Given the description of an element on the screen output the (x, y) to click on. 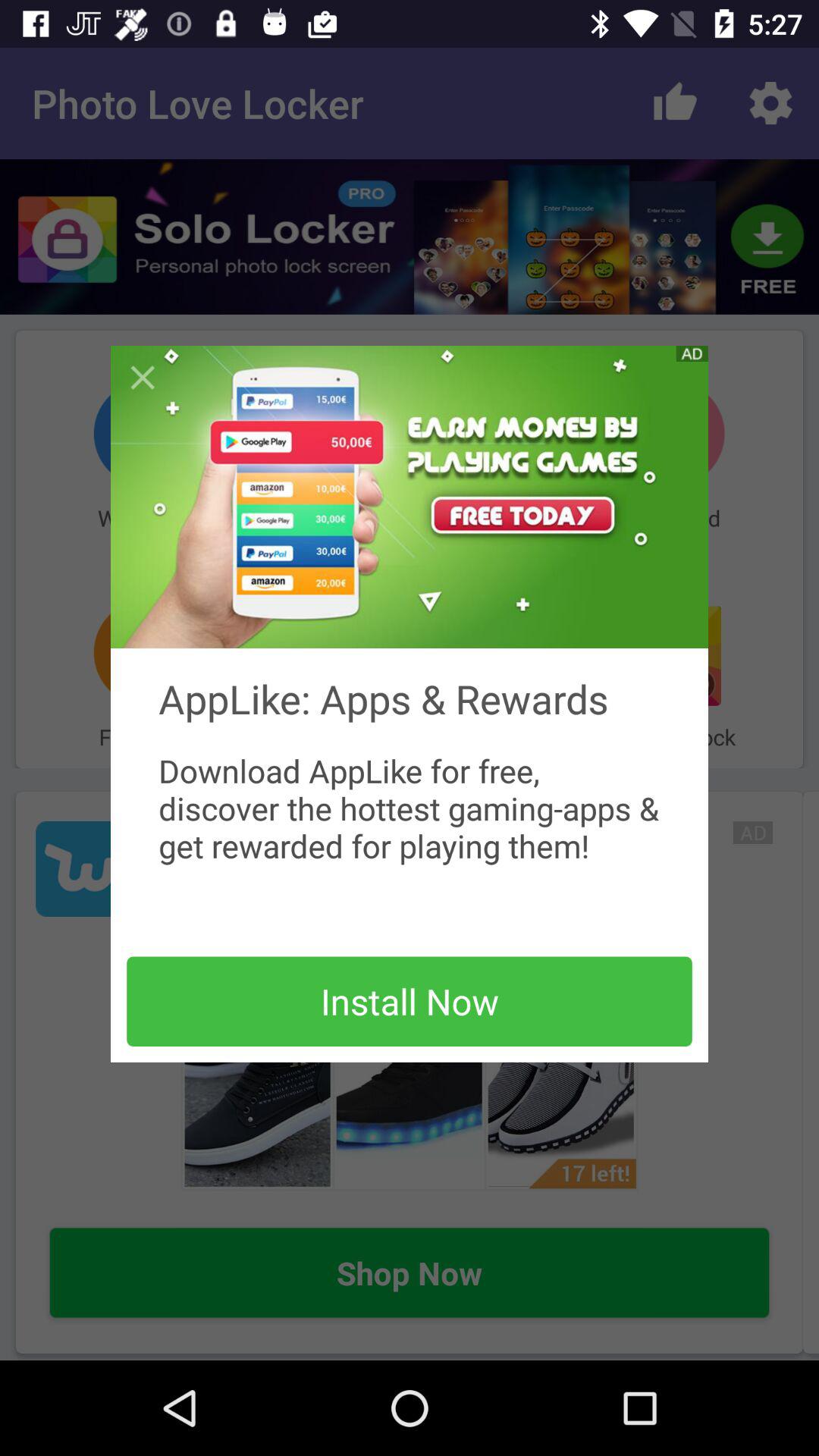
select the advertisement (409, 496)
